Given the description of an element on the screen output the (x, y) to click on. 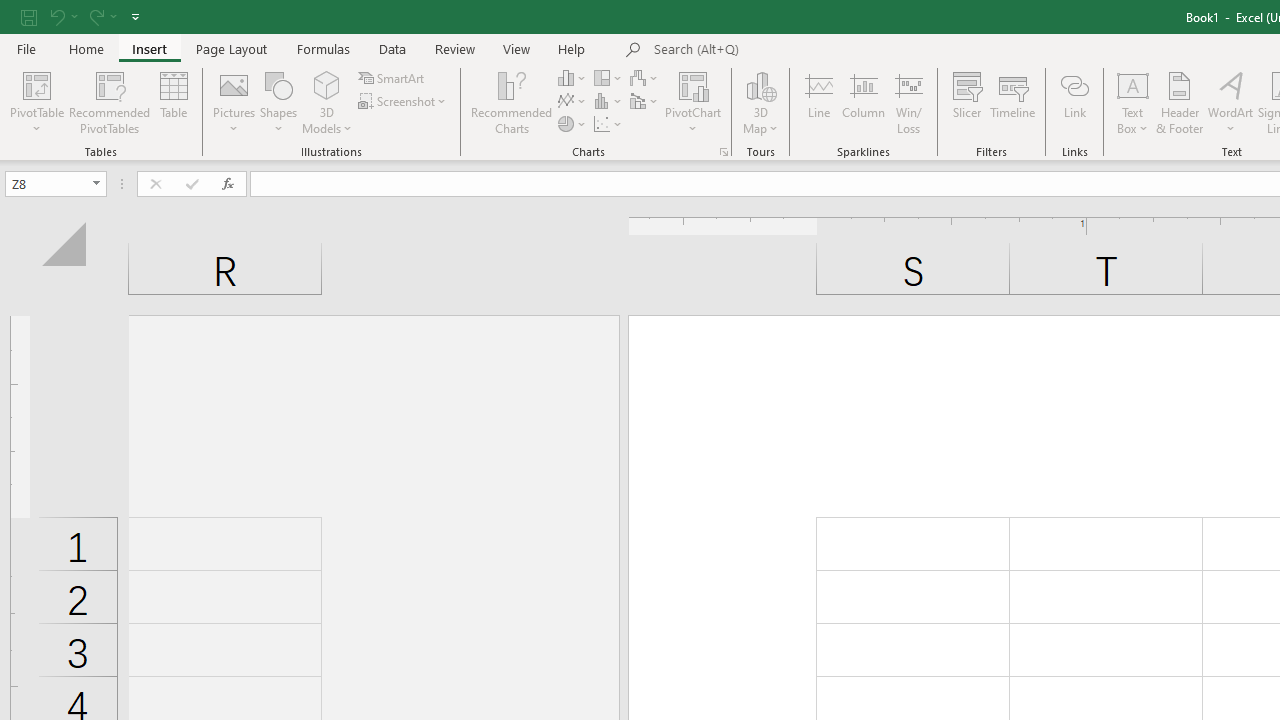
Recommended PivotTables (109, 102)
Slicer... (966, 102)
Draw Horizontal Text Box (1133, 84)
3D Models (326, 102)
Insert Pie or Doughnut Chart (573, 124)
